Given the description of an element on the screen output the (x, y) to click on. 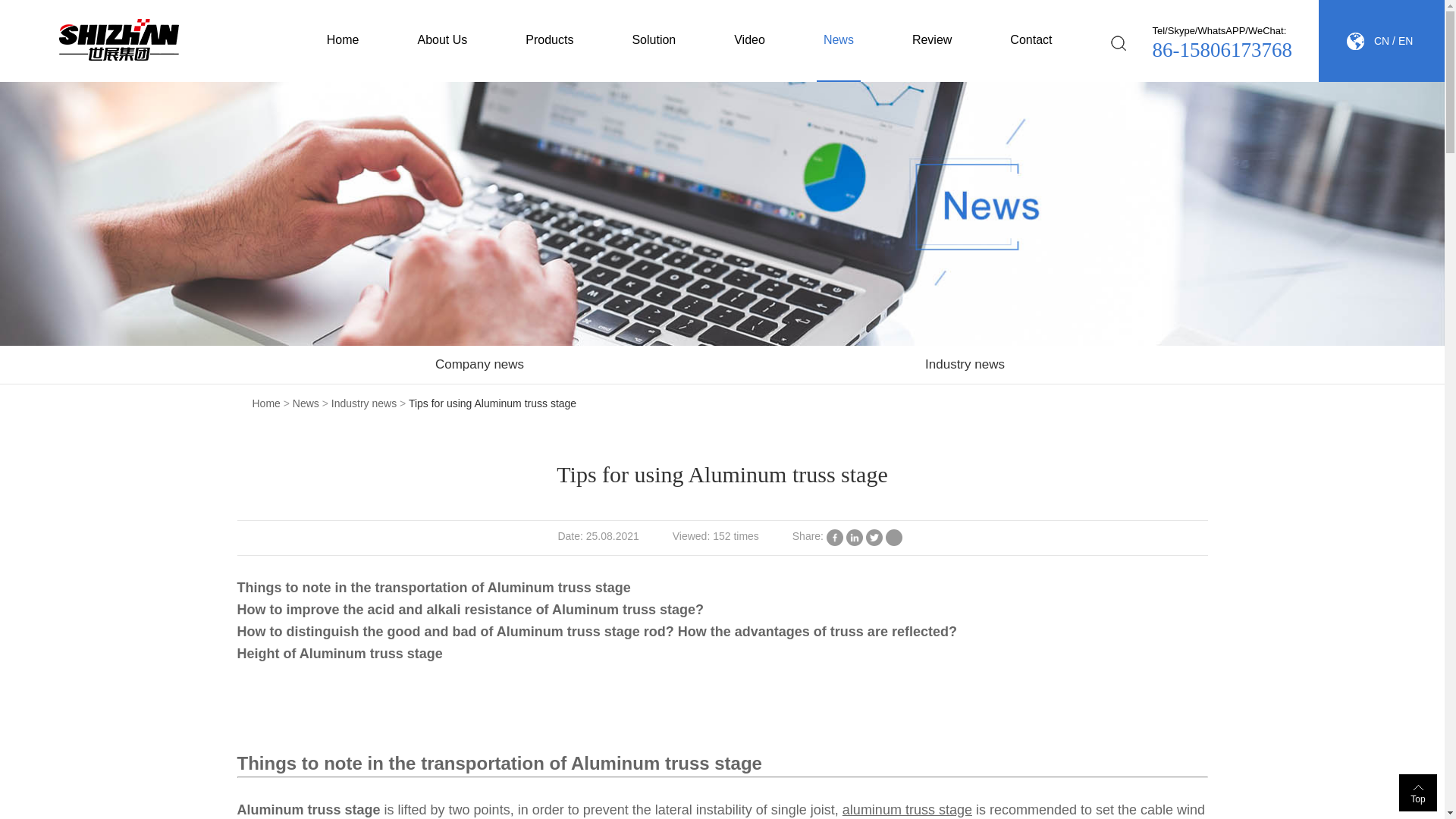
CN (1381, 40)
EN (1404, 40)
Industry news (964, 364)
Company news (478, 364)
Company news (478, 364)
Industry news (964, 364)
